Given the description of an element on the screen output the (x, y) to click on. 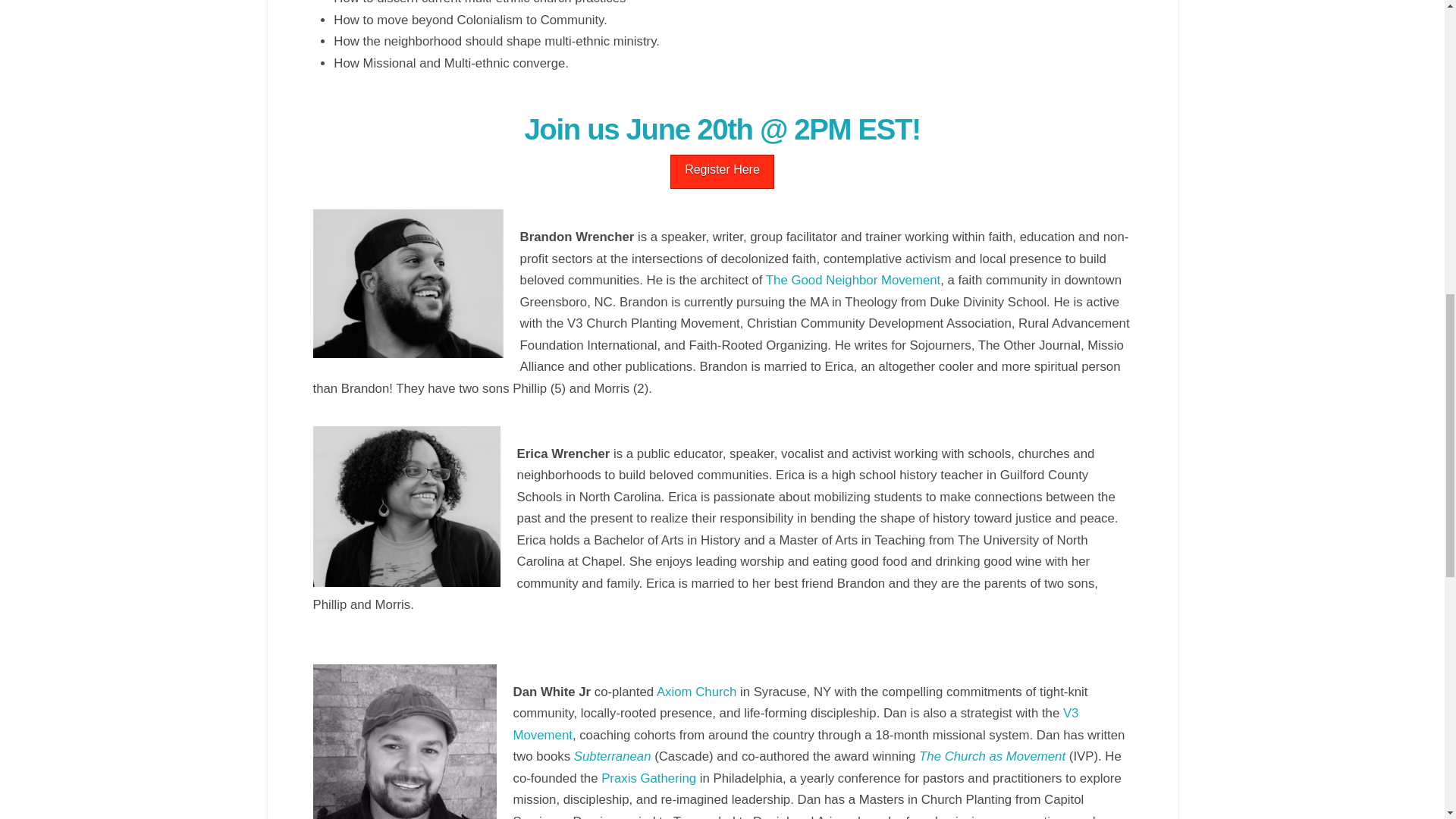
Subterranean  (613, 756)
Praxis Gathering (647, 778)
Axiom Church (696, 691)
The Church as Movement  (993, 756)
V3 Movement (795, 723)
Register Here (721, 171)
The Good Neighbor Movement (852, 279)
